Given the description of an element on the screen output the (x, y) to click on. 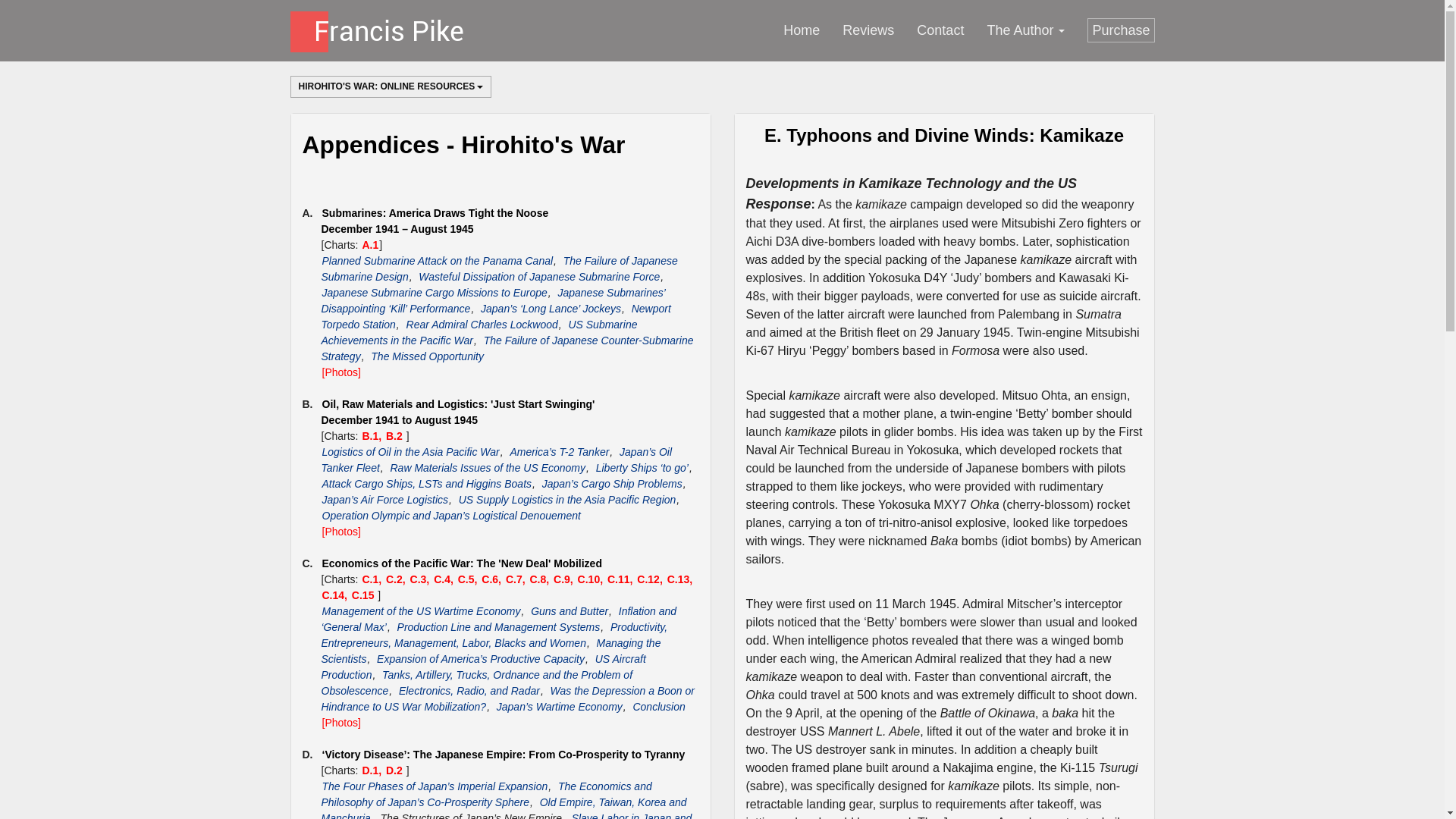
HIROHITO'S WAR: ONLINE RESOURCES (390, 86)
Home (801, 30)
Purchase (1120, 30)
US Submarine Achievements in the Pacific War (479, 332)
The Failure of Japanese Submarine Design (499, 268)
B.1, (373, 436)
Japanese Submarine Cargo Missions to Europe (434, 292)
The Author (1025, 30)
Wasteful Dissipation of Japanese Submarine Force (539, 276)
The Failure of Japanese Counter-Submarine Strategy (507, 348)
Contact (940, 30)
A.1 (968, 30)
Logistics of Oil in the Asia Pacific War (369, 244)
